Given the description of an element on the screen output the (x, y) to click on. 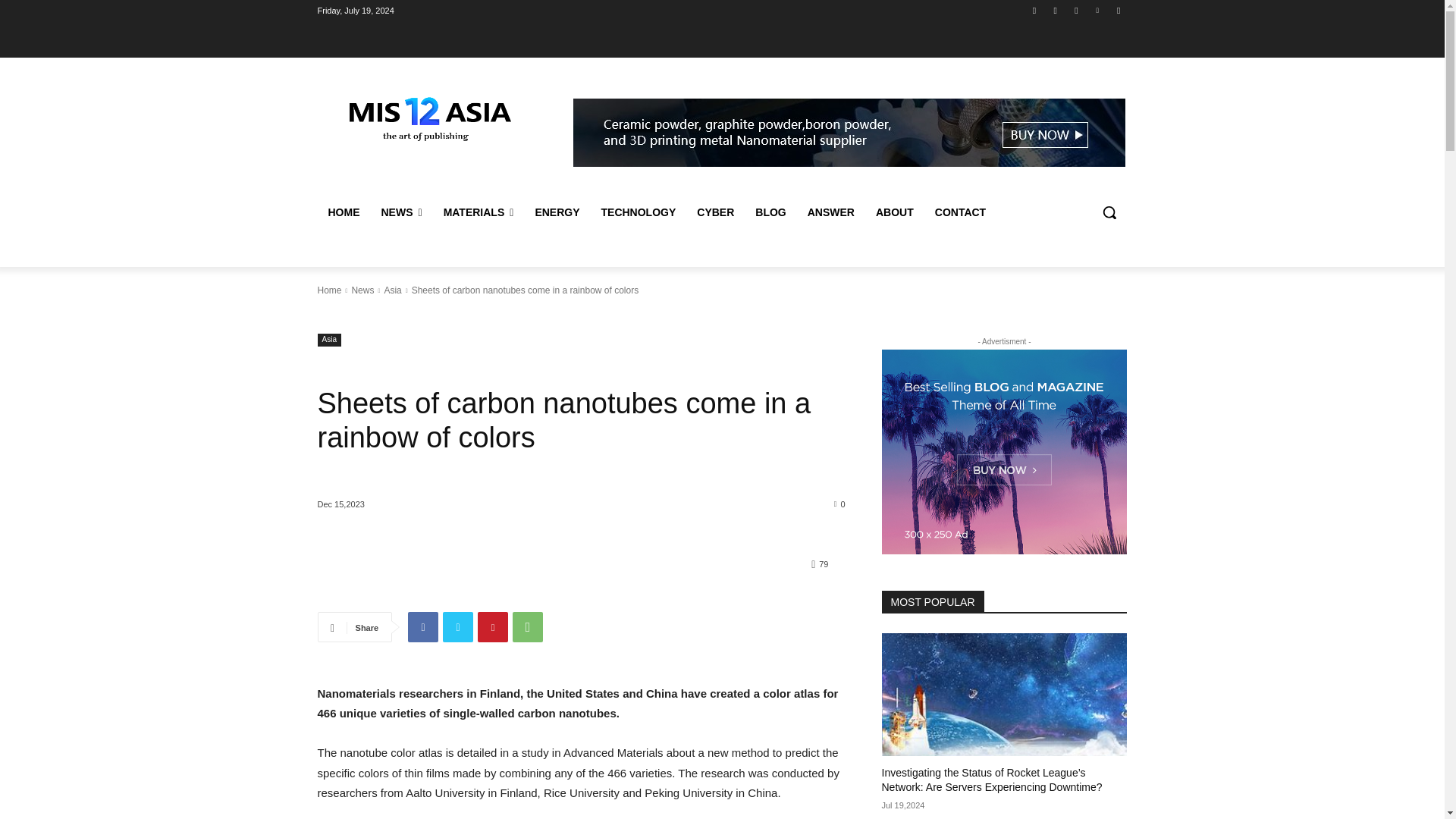
Facebook (422, 626)
View all posts in Asia (392, 290)
View all posts in News (362, 290)
Facebook (1034, 9)
Twitter (1075, 9)
Vimeo (1097, 9)
Instagram (1055, 9)
Youtube (1117, 9)
